Given the description of an element on the screen output the (x, y) to click on. 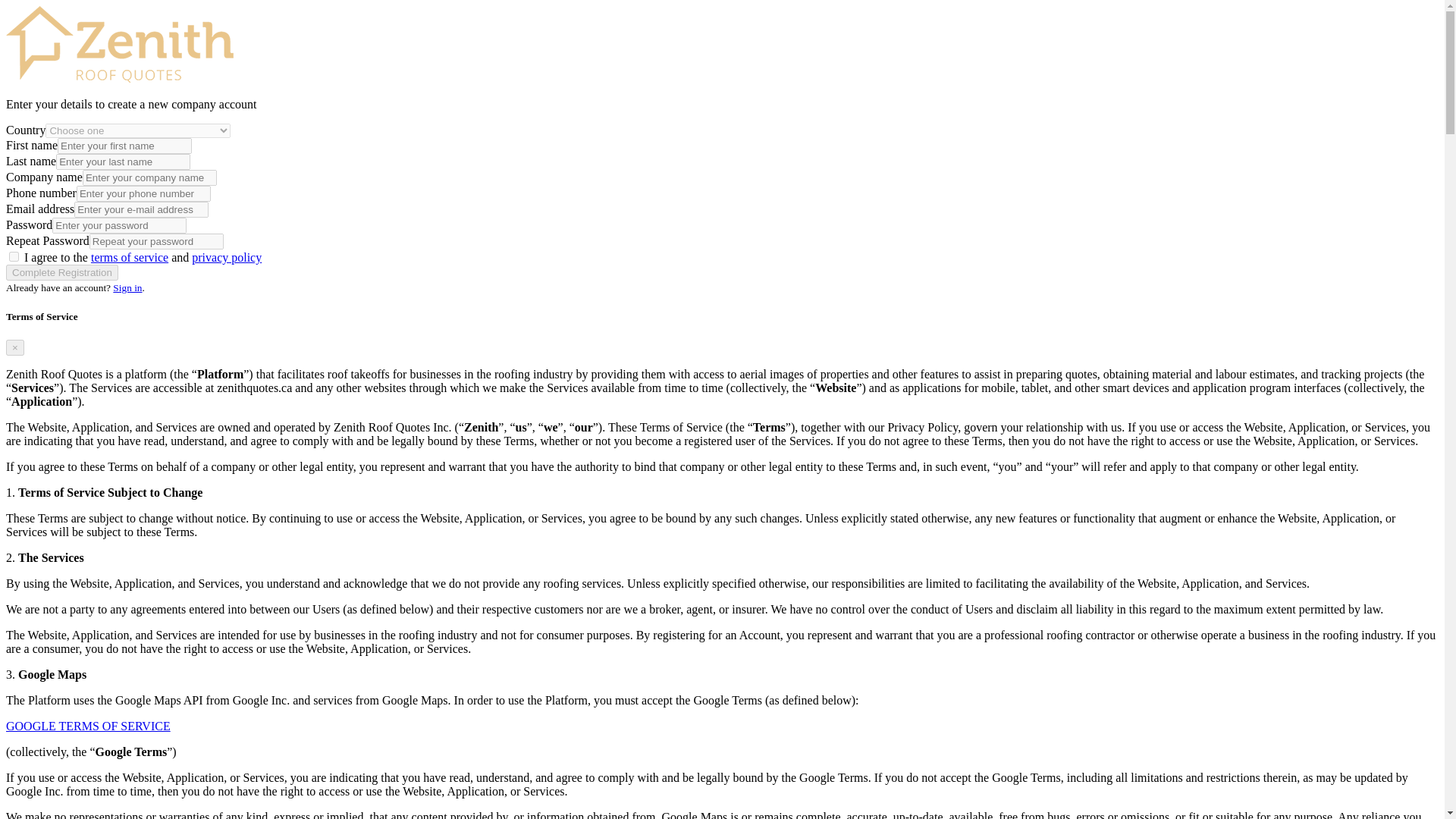
Complete Registration (61, 272)
privacy policy (227, 256)
GOOGLE TERMS OF SERVICE (87, 725)
Sign in (127, 287)
terms of service (129, 256)
1 (13, 256)
